Given the description of an element on the screen output the (x, y) to click on. 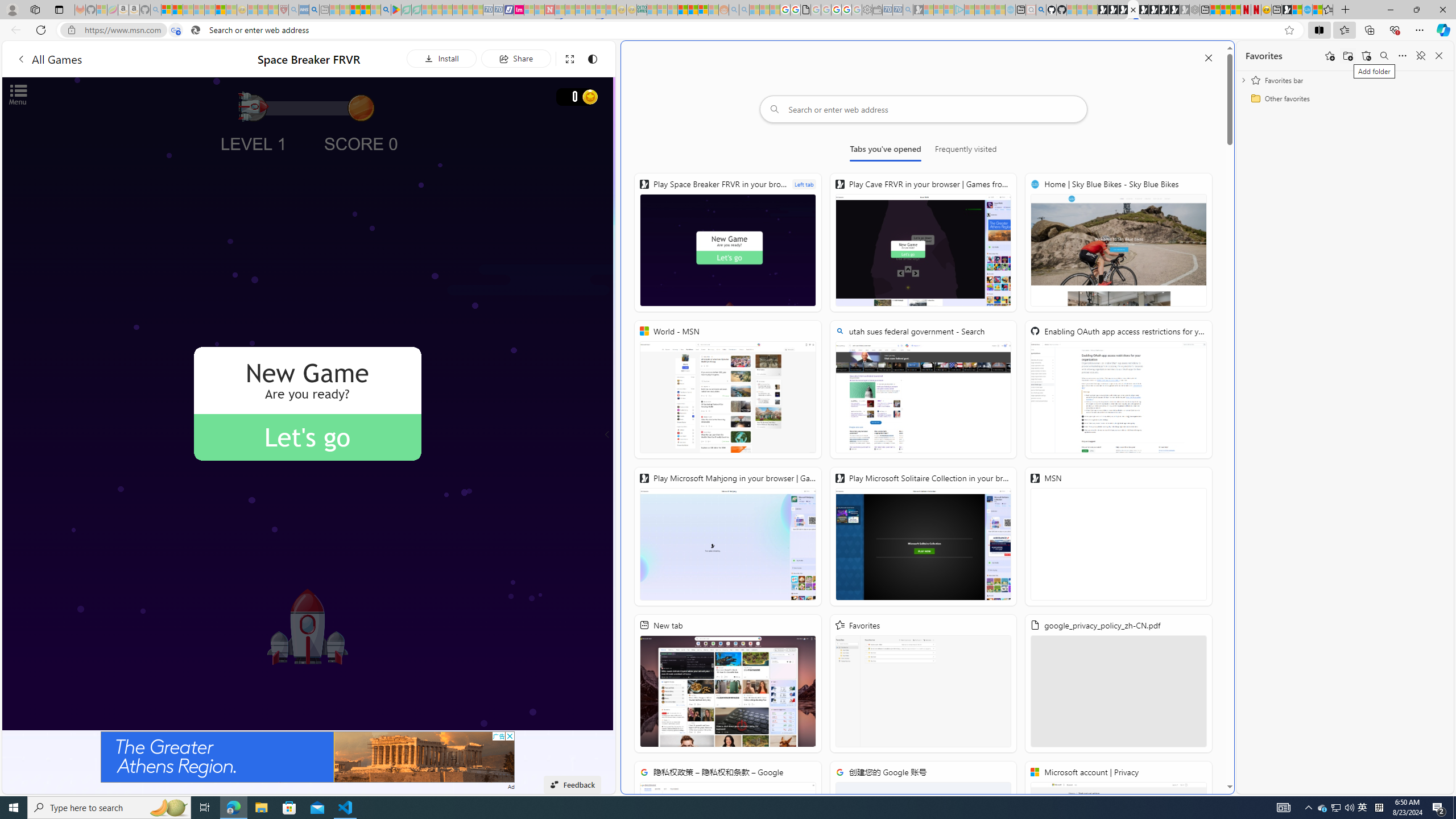
Advertisement (307, 756)
Close favorites (1439, 55)
New split screen (1132, 9)
Search favorites (1383, 55)
Tabs in split screen (175, 29)
